Given the description of an element on the screen output the (x, y) to click on. 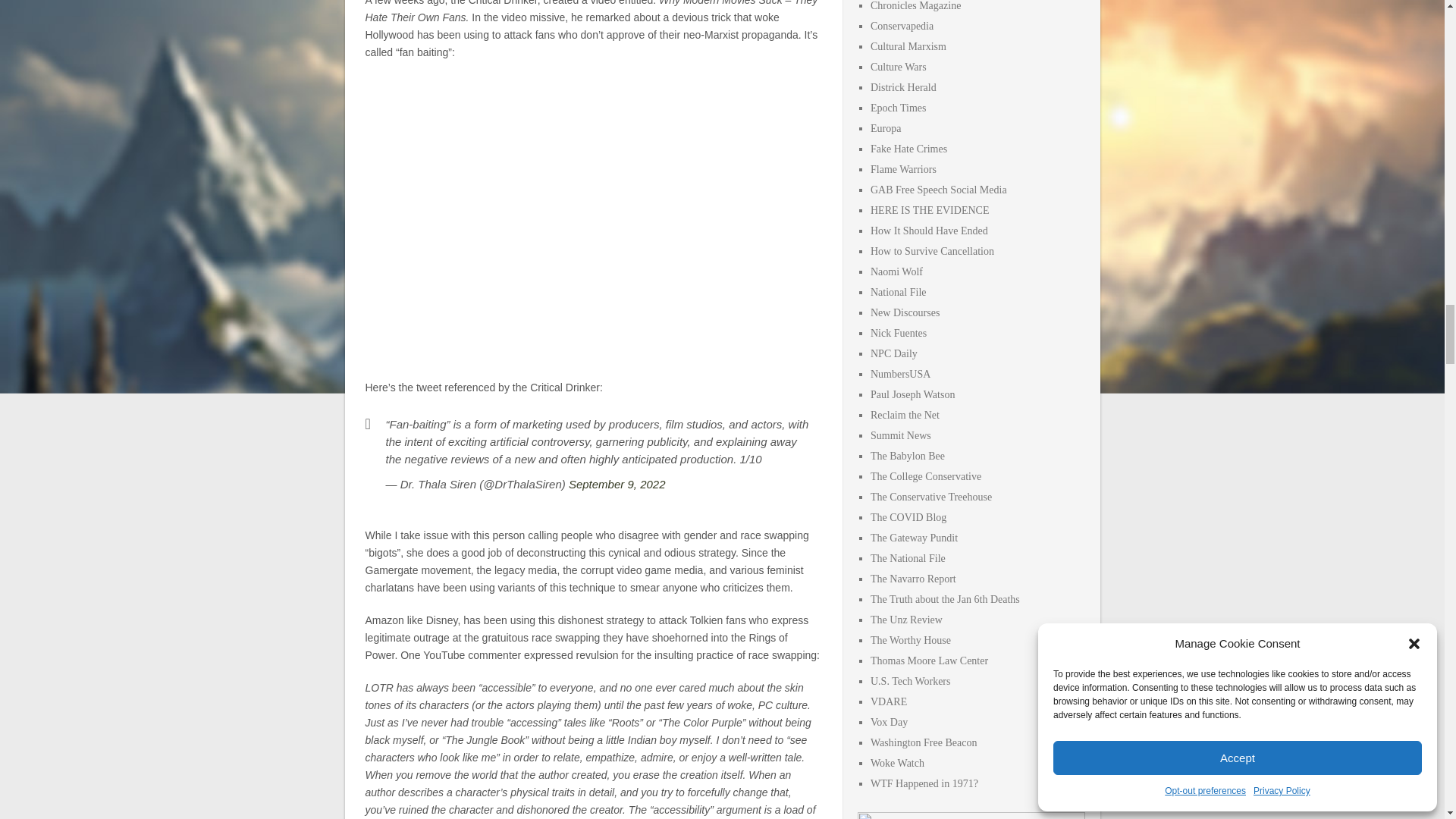
September 9, 2022 (617, 483)
